Given the description of an element on the screen output the (x, y) to click on. 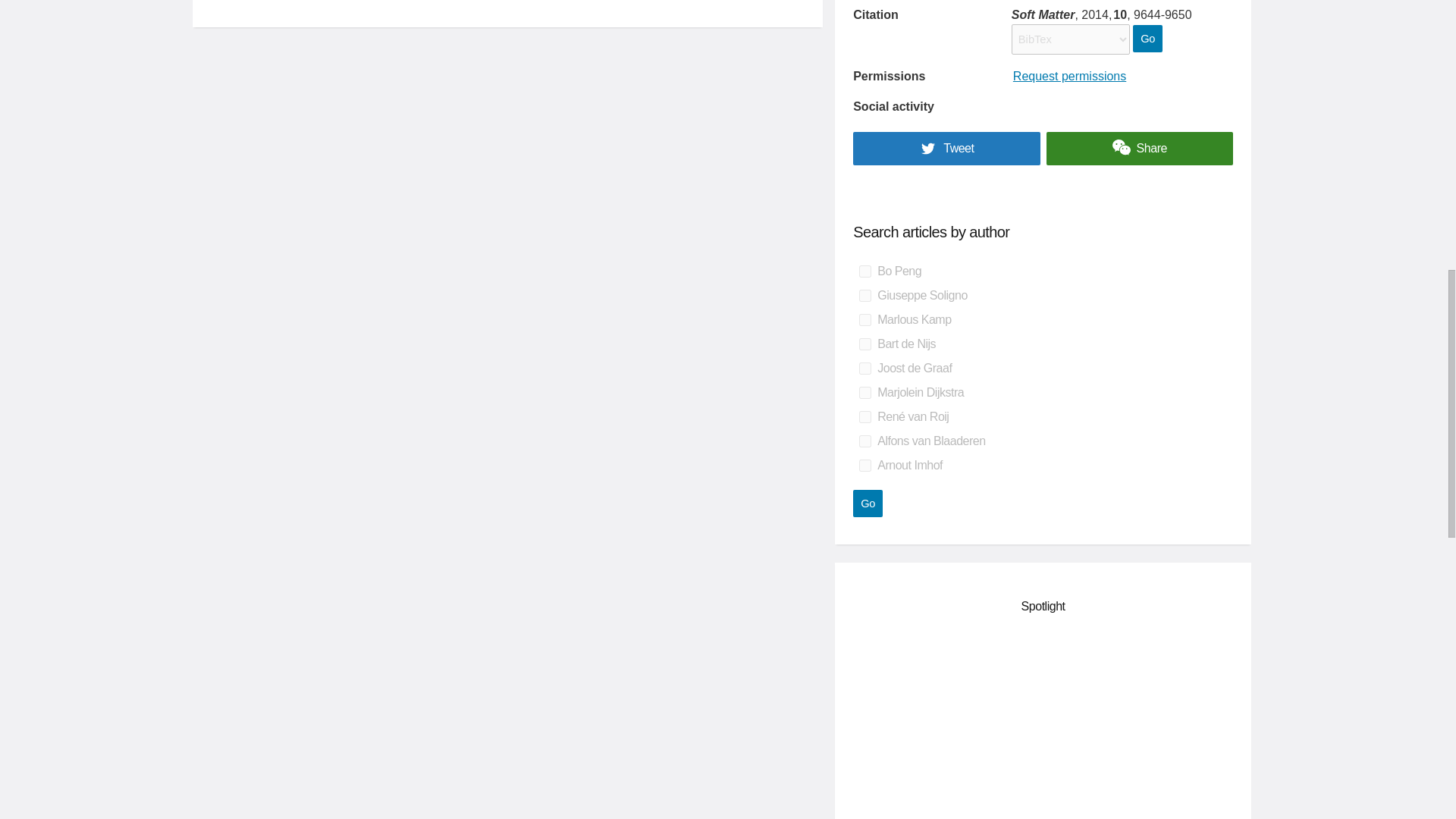
3rd party ad content (1043, 725)
on (864, 295)
on (864, 368)
Go (867, 502)
on (864, 440)
Go (867, 502)
on (864, 392)
on (864, 465)
on (864, 417)
Go (1146, 38)
on (864, 319)
on (864, 271)
on (864, 344)
